Given the description of an element on the screen output the (x, y) to click on. 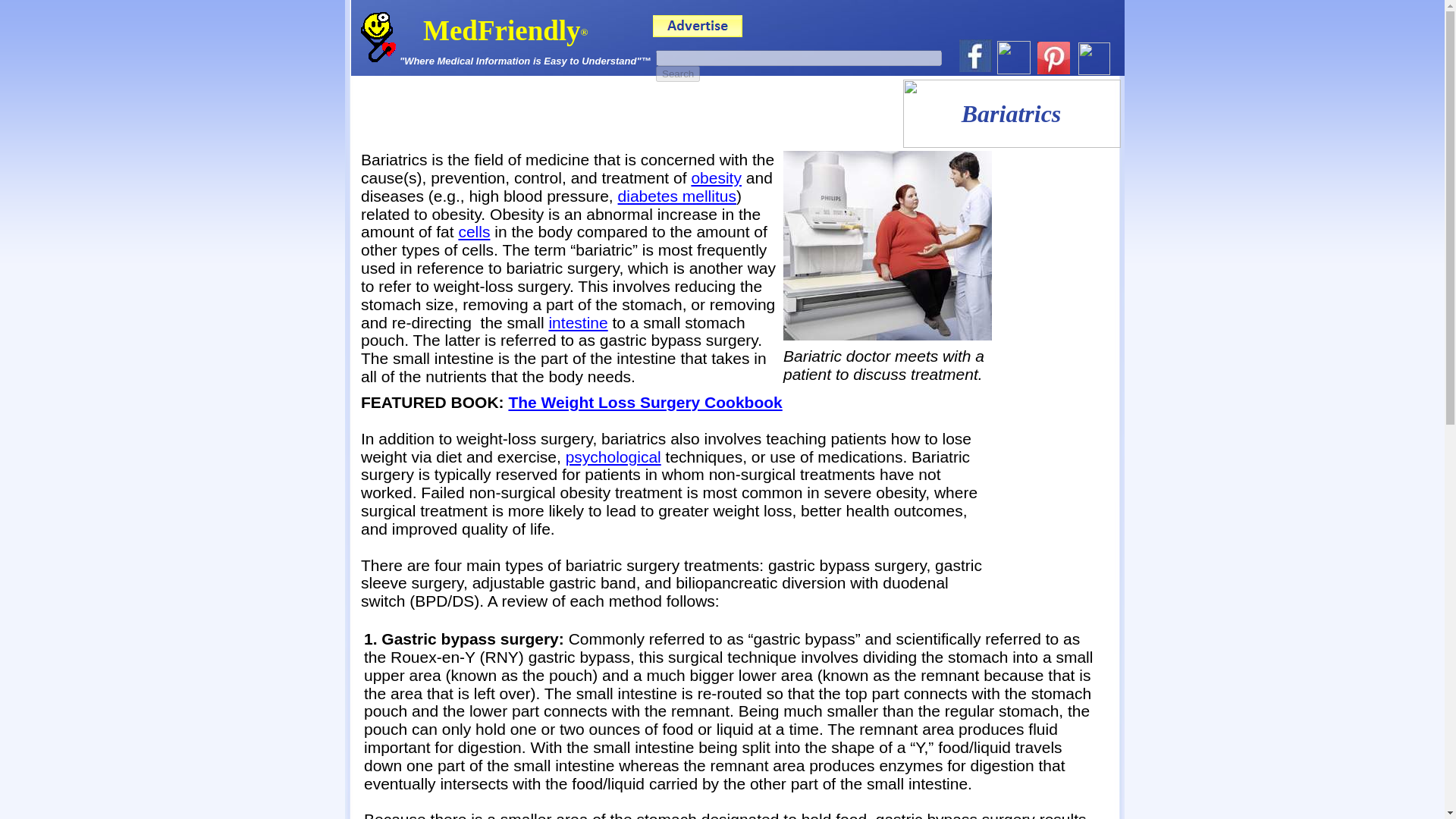
cells (473, 231)
Search (678, 73)
intestine (577, 322)
diabetes mellitus (676, 195)
psychological (613, 456)
The Weight Loss Surgery Cookbook (644, 402)
Search (678, 73)
obesity (715, 177)
